Given the description of an element on the screen output the (x, y) to click on. 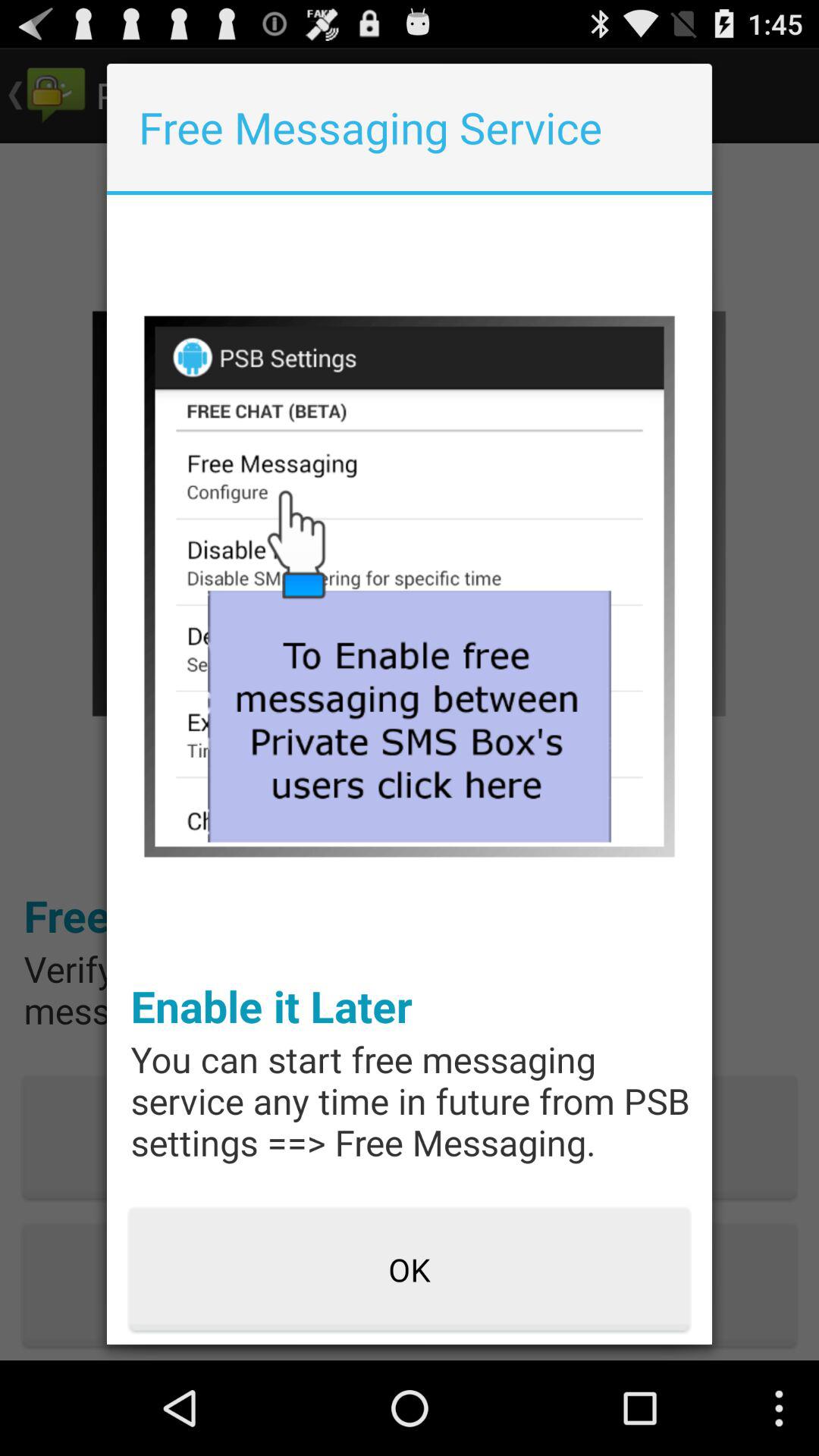
press ok item (409, 1270)
